Given the description of an element on the screen output the (x, y) to click on. 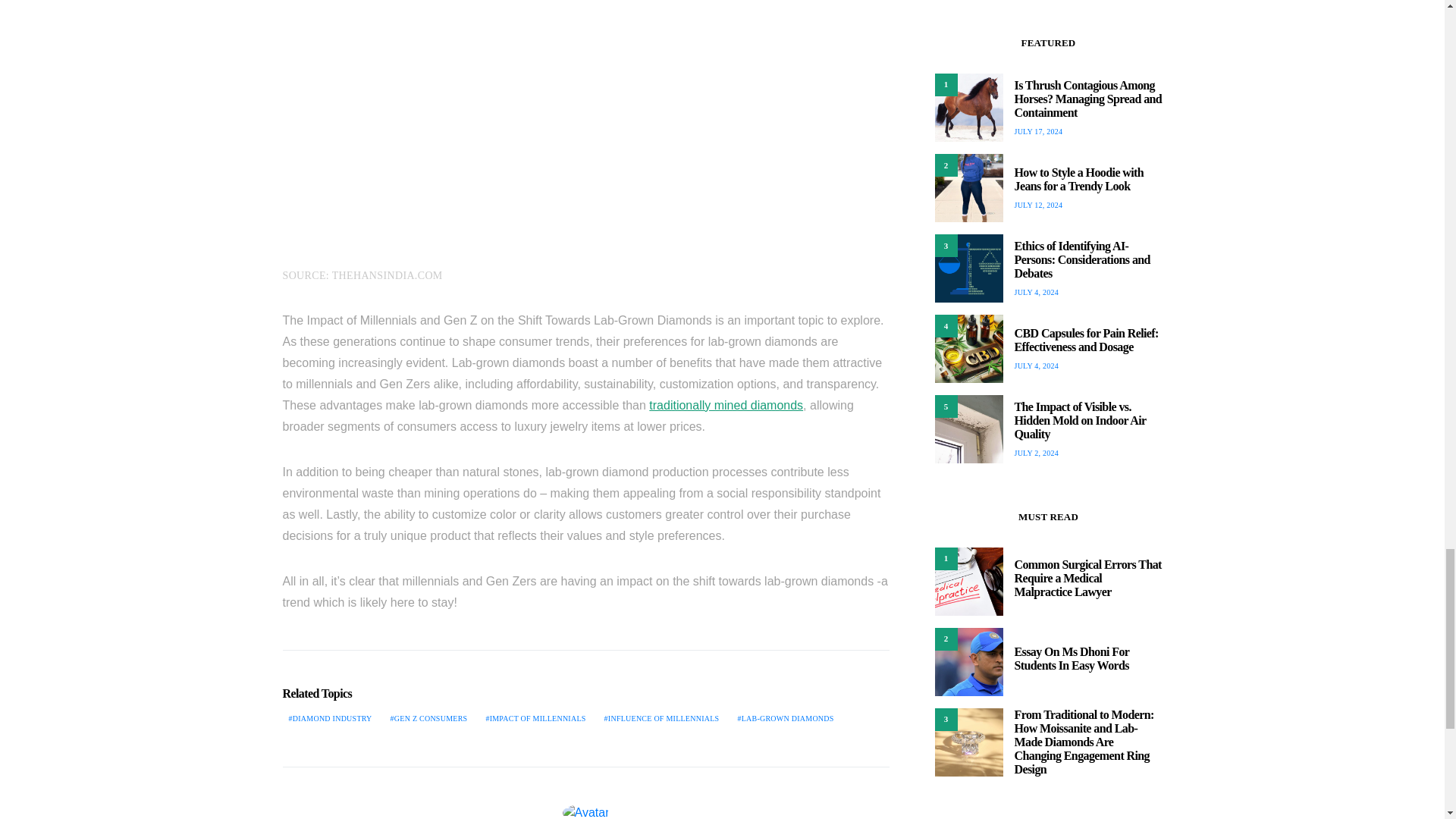
traditionally mined diamonds (726, 404)
LAB-GROWN DIAMONDS (785, 717)
DIAMOND INDUSTRY (329, 717)
IMPACT OF MILLENNIALS (535, 717)
INFLUENCE OF MILLENNIALS (661, 717)
GEN Z CONSUMERS (429, 717)
